Given the description of an element on the screen output the (x, y) to click on. 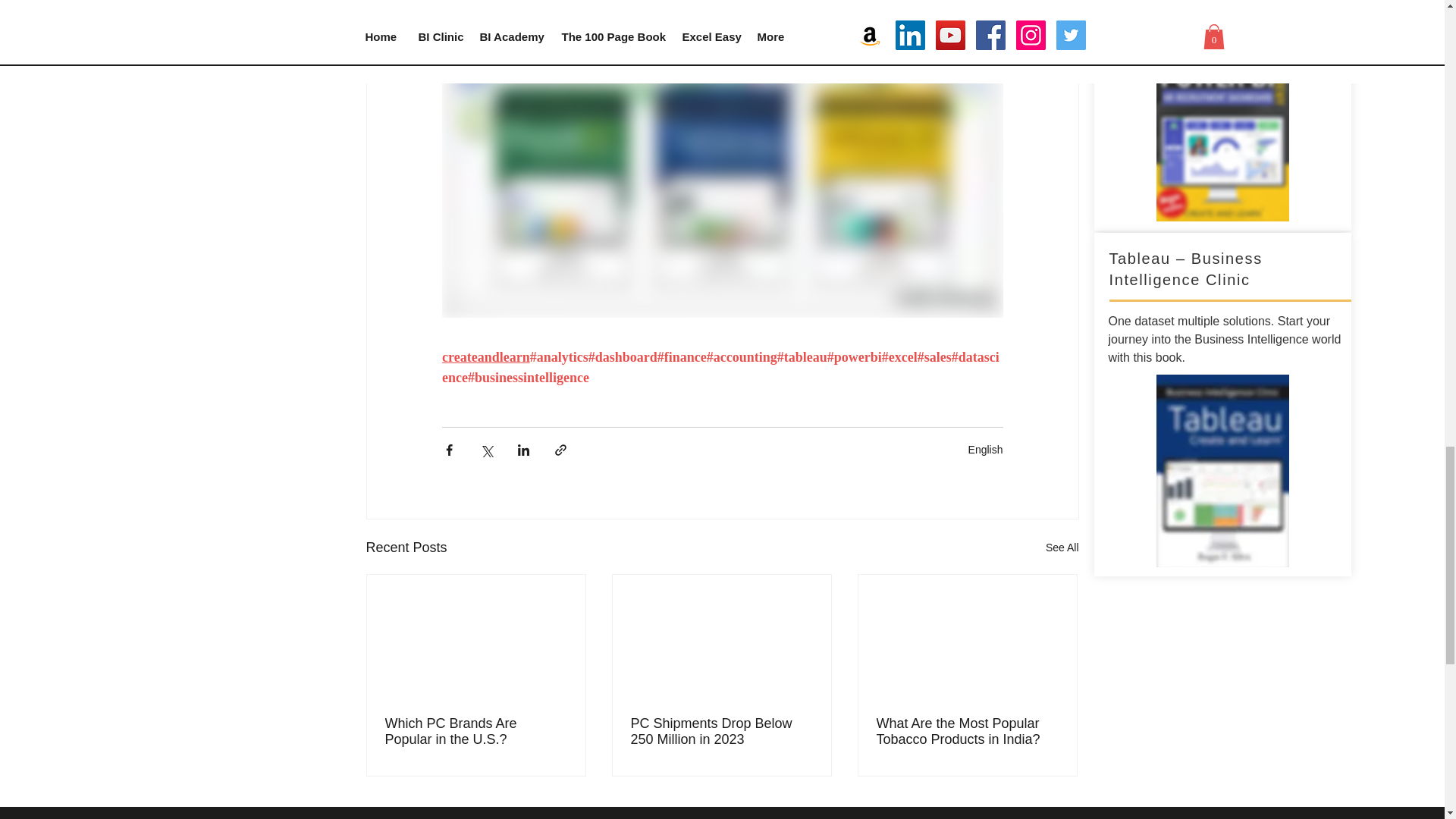
createandlearn (485, 357)
